Given the description of an element on the screen output the (x, y) to click on. 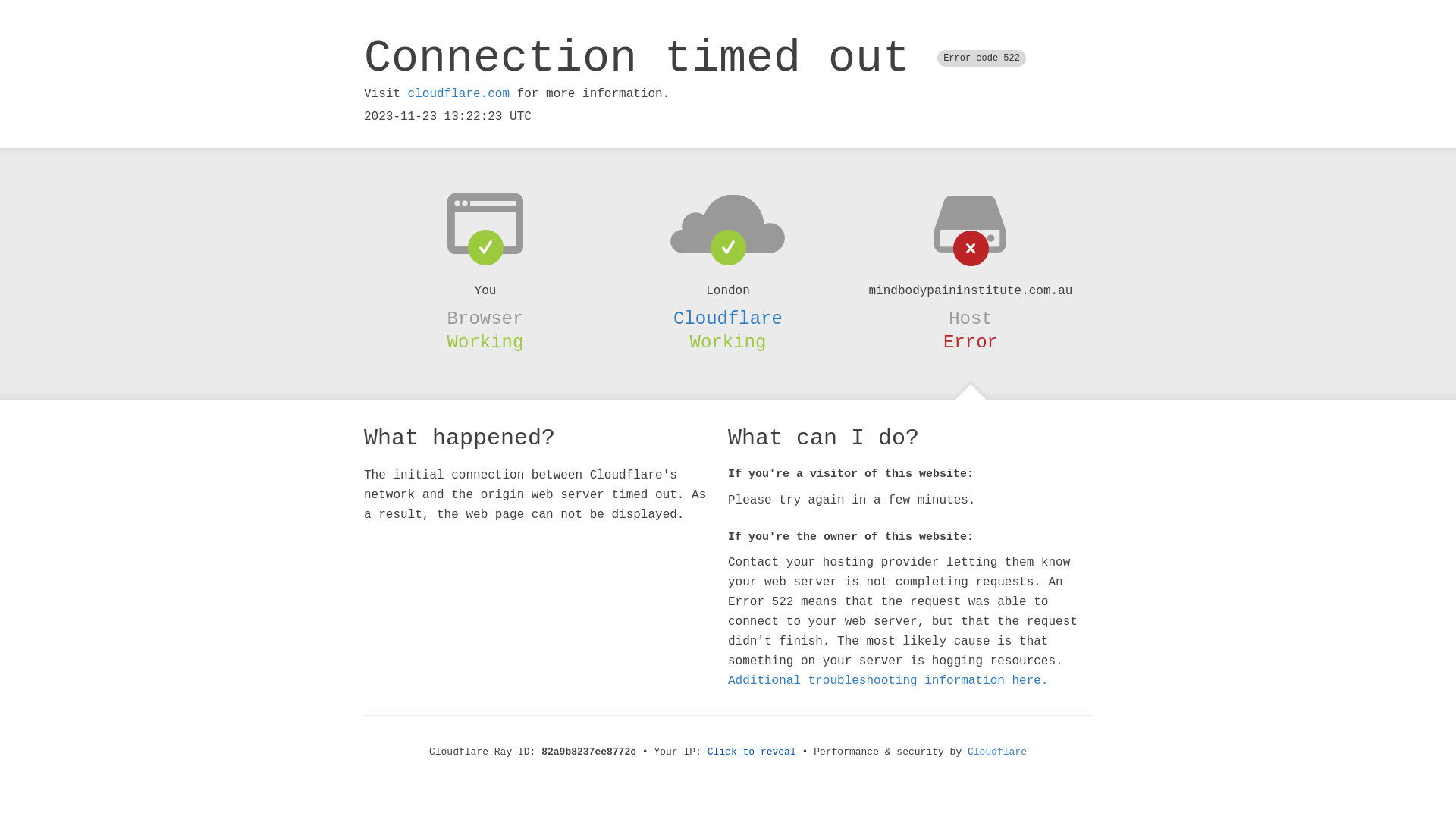
Additional troubleshooting information here. Element type: text (888, 680)
Click to reveal Element type: text (751, 751)
cloudflare.com Element type: text (458, 93)
Cloudflare Element type: text (996, 751)
Cloudflare Element type: text (727, 318)
